Given the description of an element on the screen output the (x, y) to click on. 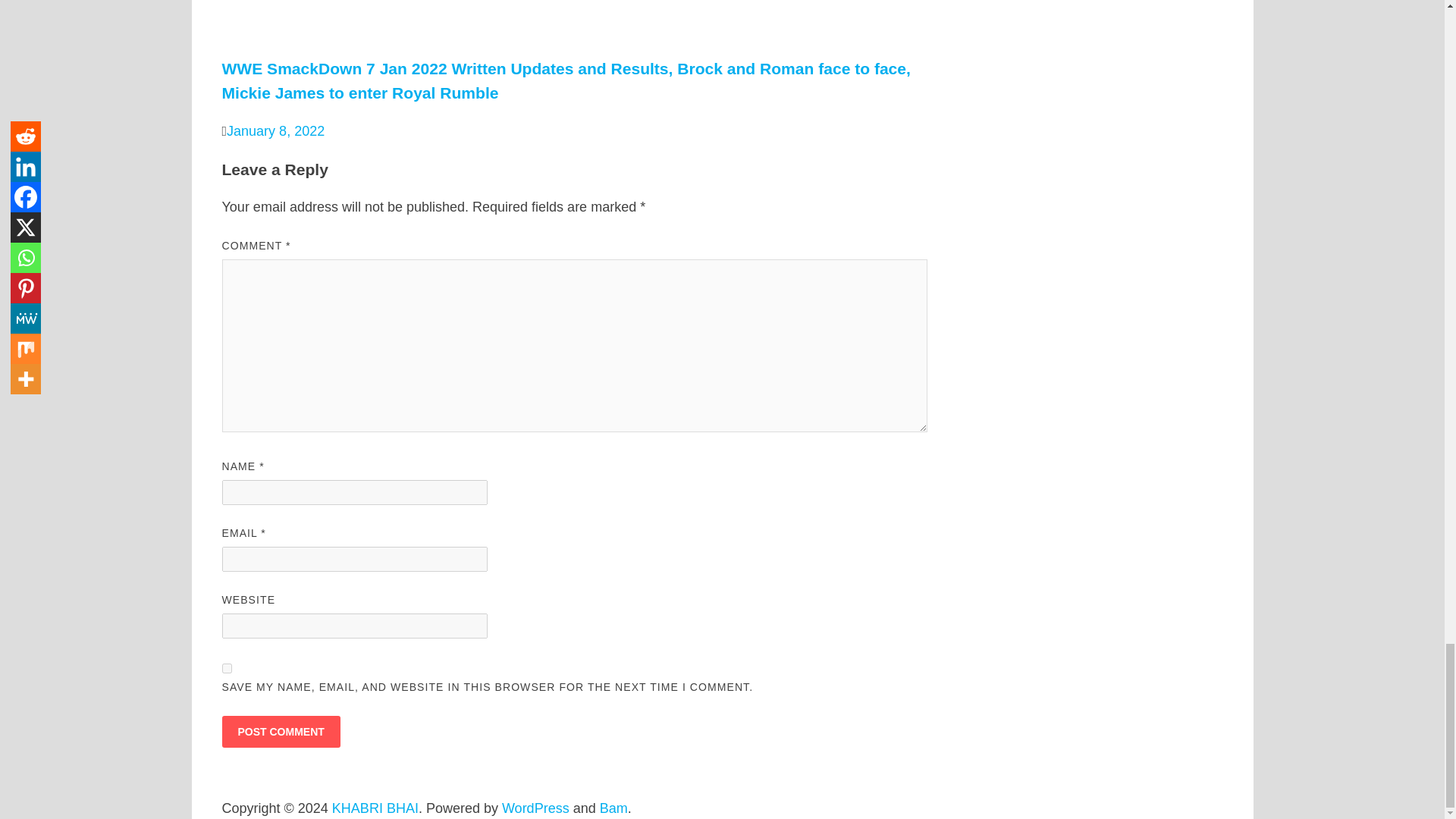
Post Comment (280, 731)
yes (226, 668)
